Given the description of an element on the screen output the (x, y) to click on. 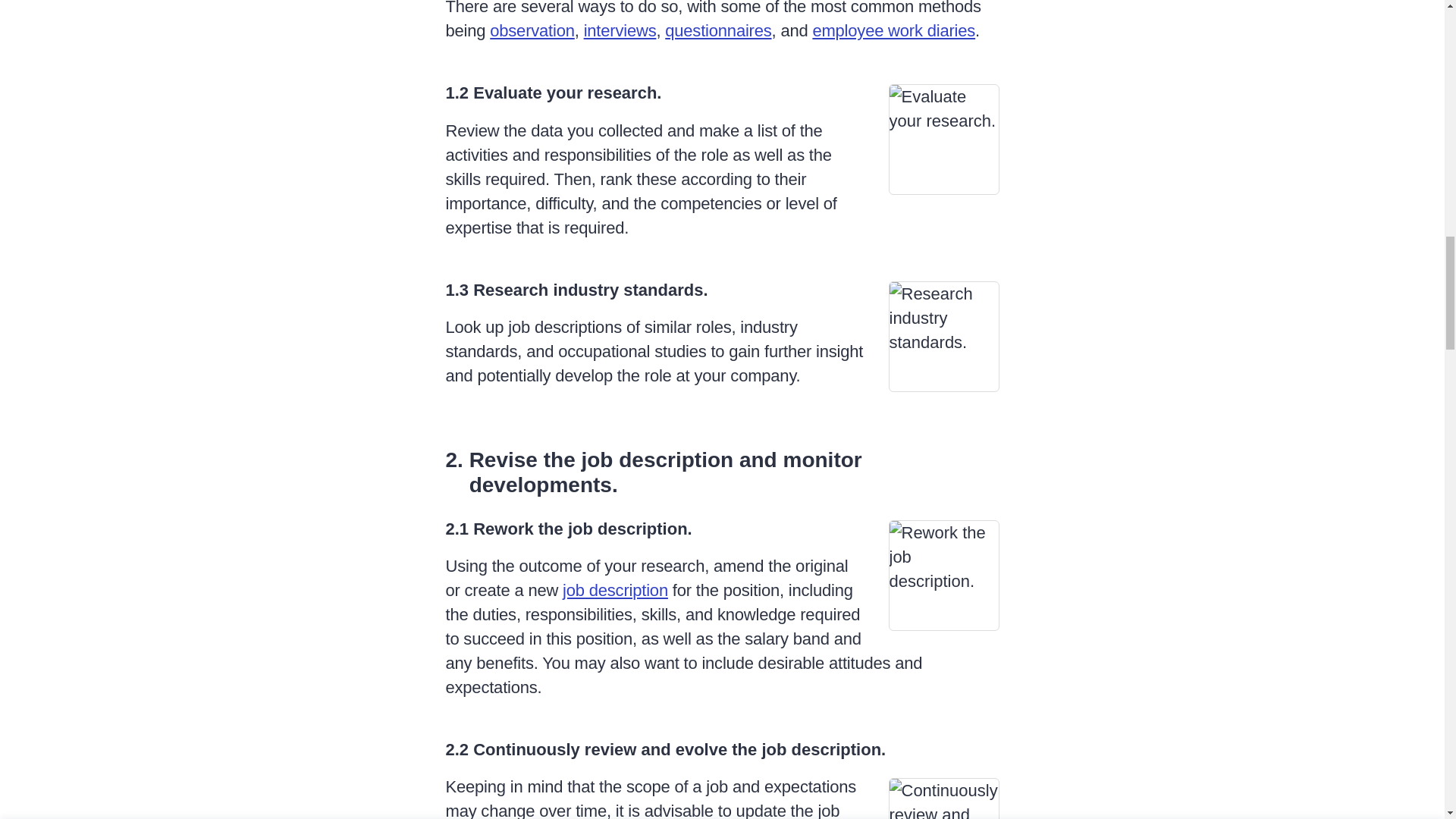
interviews (619, 30)
job description (615, 589)
questionnaires (718, 30)
observation (532, 30)
employee work diaries (893, 30)
